Given the description of an element on the screen output the (x, y) to click on. 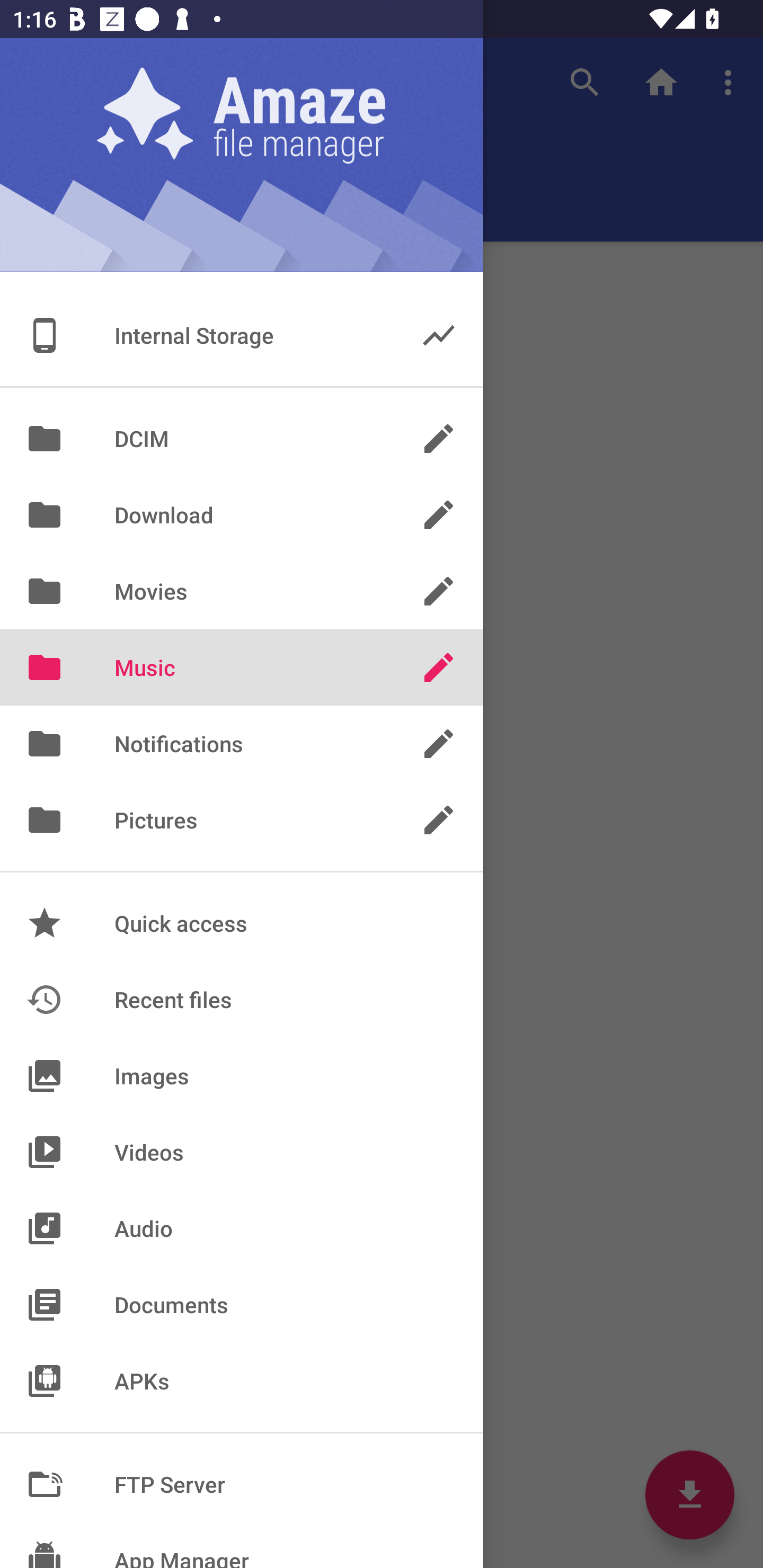
Internal Storage (241, 335)
DCIM (241, 437)
Download (241, 514)
Movies (241, 590)
Music (241, 666)
Notifications (241, 743)
Pictures (241, 819)
Quick access (241, 923)
Recent files (241, 999)
Images (241, 1075)
Videos (241, 1151)
Audio (241, 1228)
Documents (241, 1304)
APKs (241, 1380)
FTP Server (241, 1483)
App Manager (241, 1545)
